Given the description of an element on the screen output the (x, y) to click on. 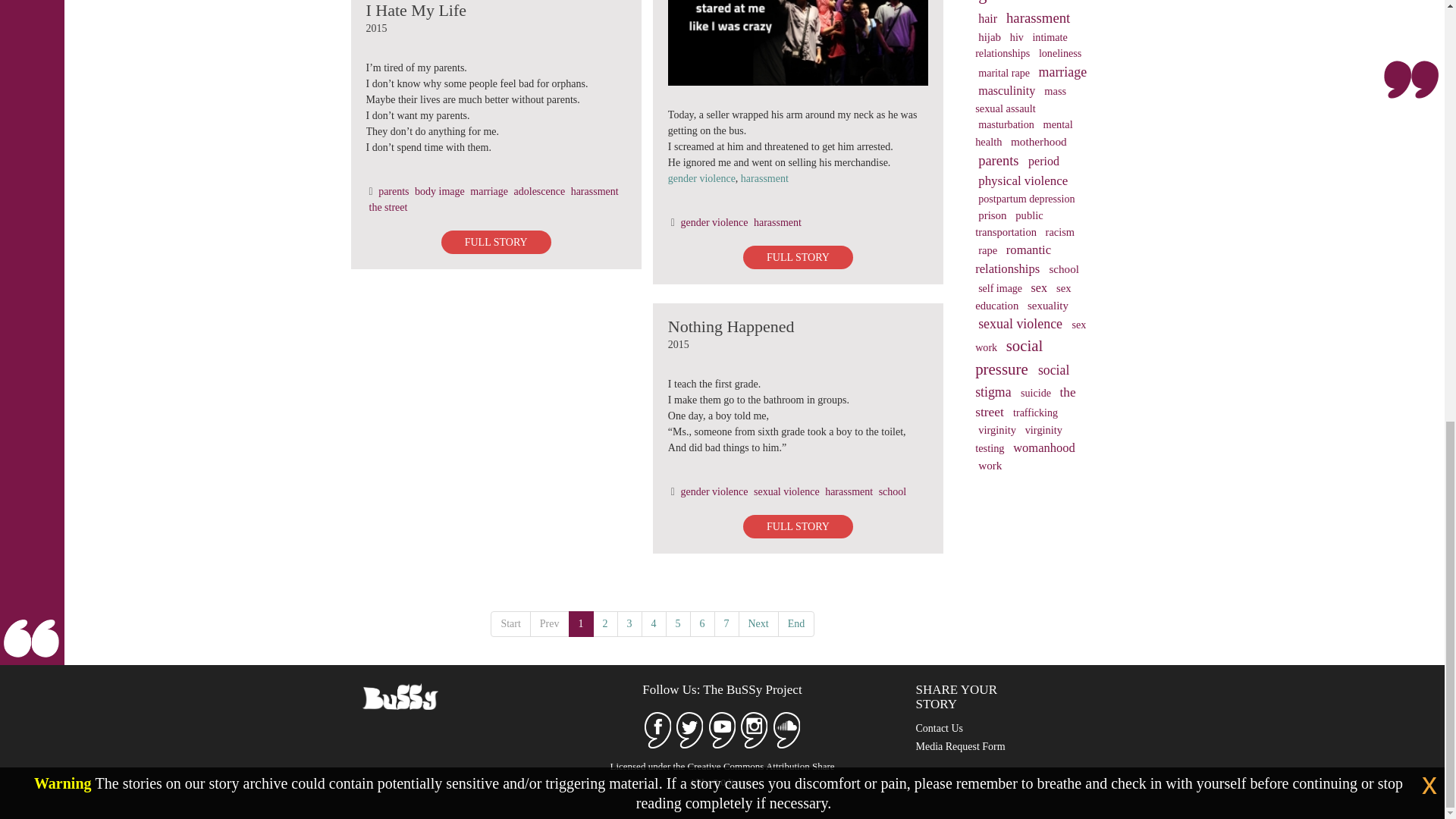
2 (604, 623)
Next (758, 623)
6 (702, 623)
7 (726, 623)
4 (654, 623)
3 (629, 623)
5 (677, 623)
Like I Was Crazy (798, 43)
End (796, 623)
